Given the description of an element on the screen output the (x, y) to click on. 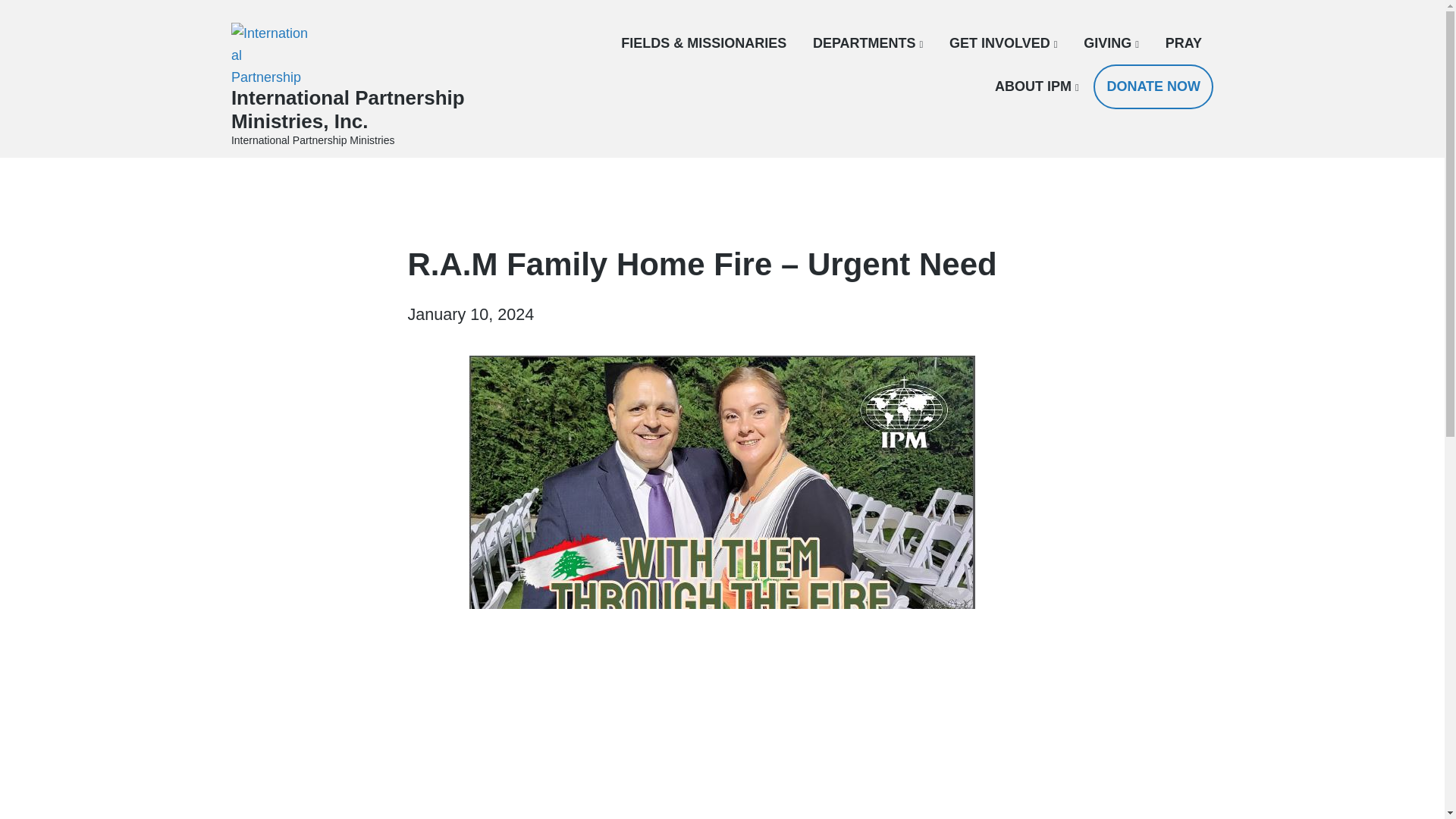
DEPARTMENTS (867, 42)
GIVING (1110, 42)
GET INVOLVED (1003, 42)
PRAY (1184, 42)
ABOUT IPM (1036, 85)
International Partnership Ministries, Inc. (347, 109)
